Given the description of an element on the screen output the (x, y) to click on. 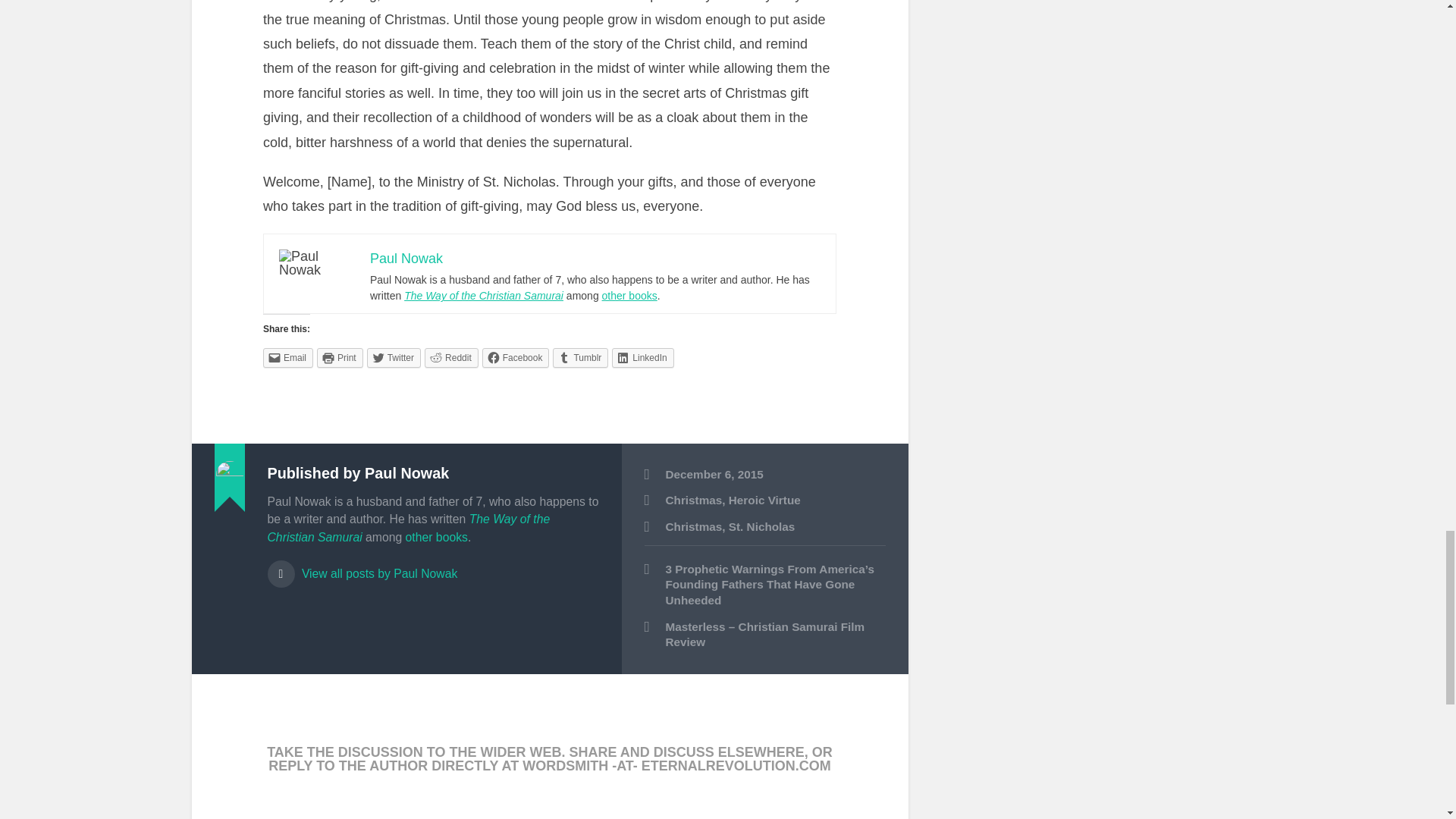
Click to share on Twitter (393, 357)
St. Nicholas (761, 526)
Christmas (693, 526)
Click to share on Tumblr (580, 357)
Click to email this to a friend (288, 357)
Click to print (339, 357)
View all posts by Paul Nowak (432, 566)
Click to share on Reddit (452, 357)
other books (436, 536)
Tumblr (580, 357)
